Given the description of an element on the screen output the (x, y) to click on. 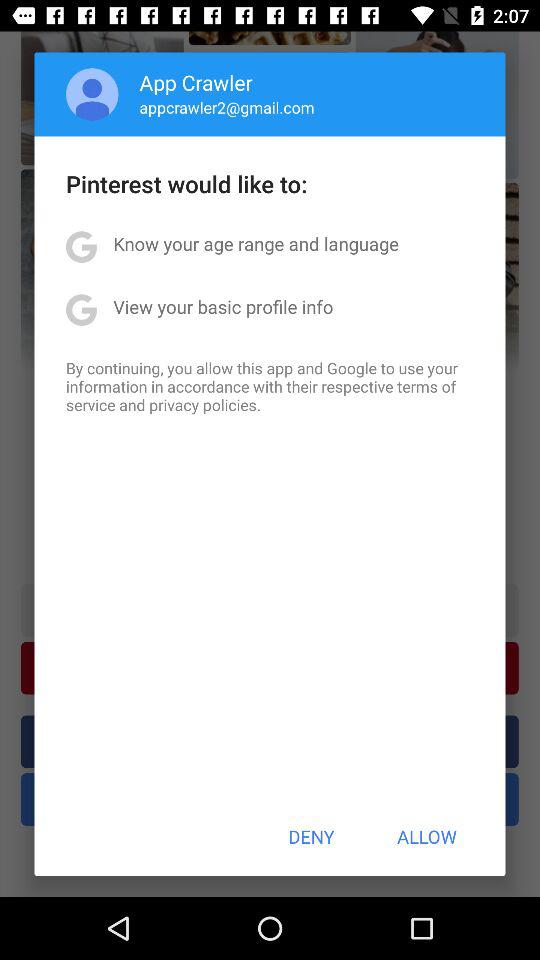
press app above pinterest would like item (92, 94)
